Given the description of an element on the screen output the (x, y) to click on. 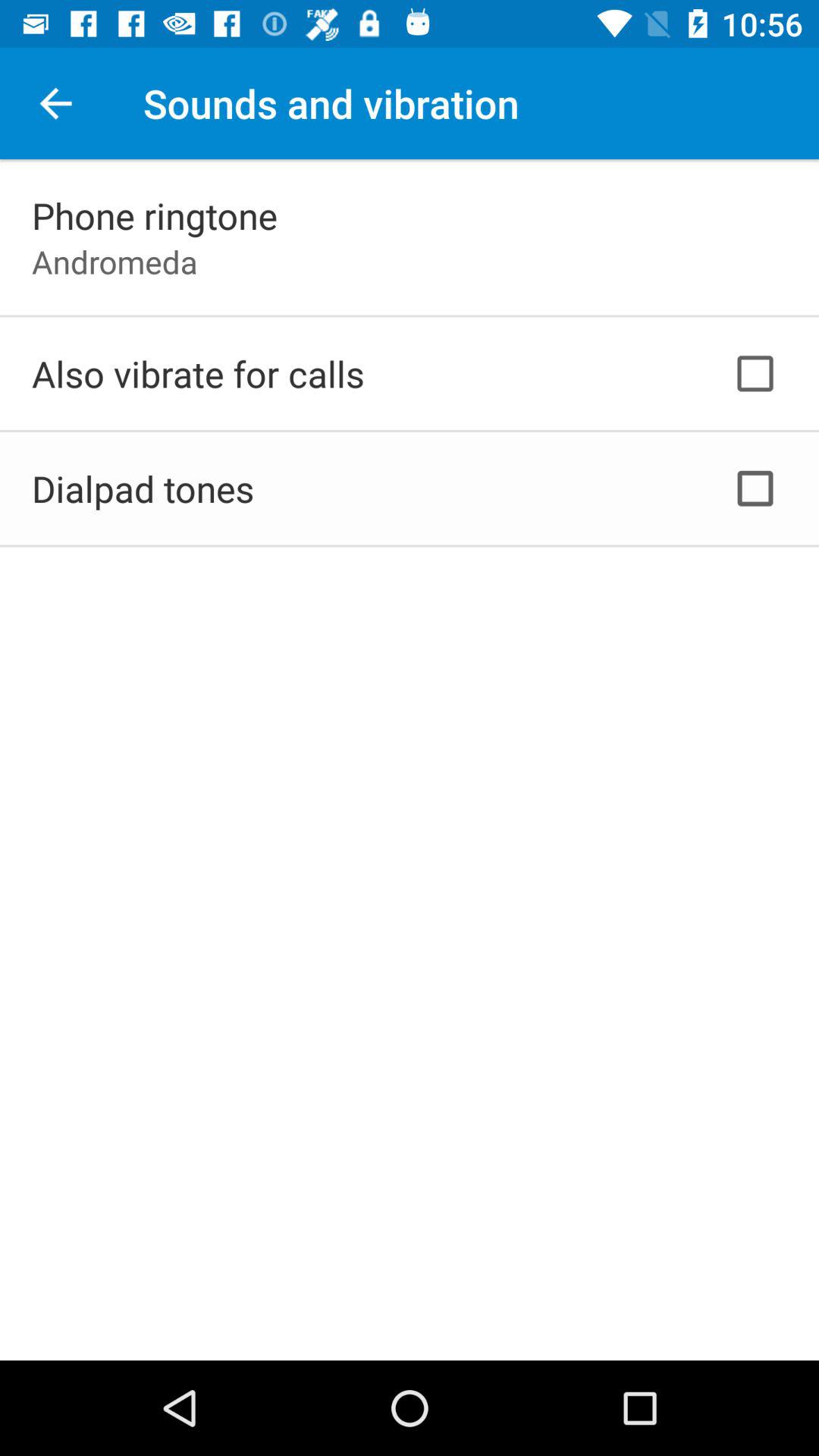
click icon above also vibrate for icon (114, 261)
